Given the description of an element on the screen output the (x, y) to click on. 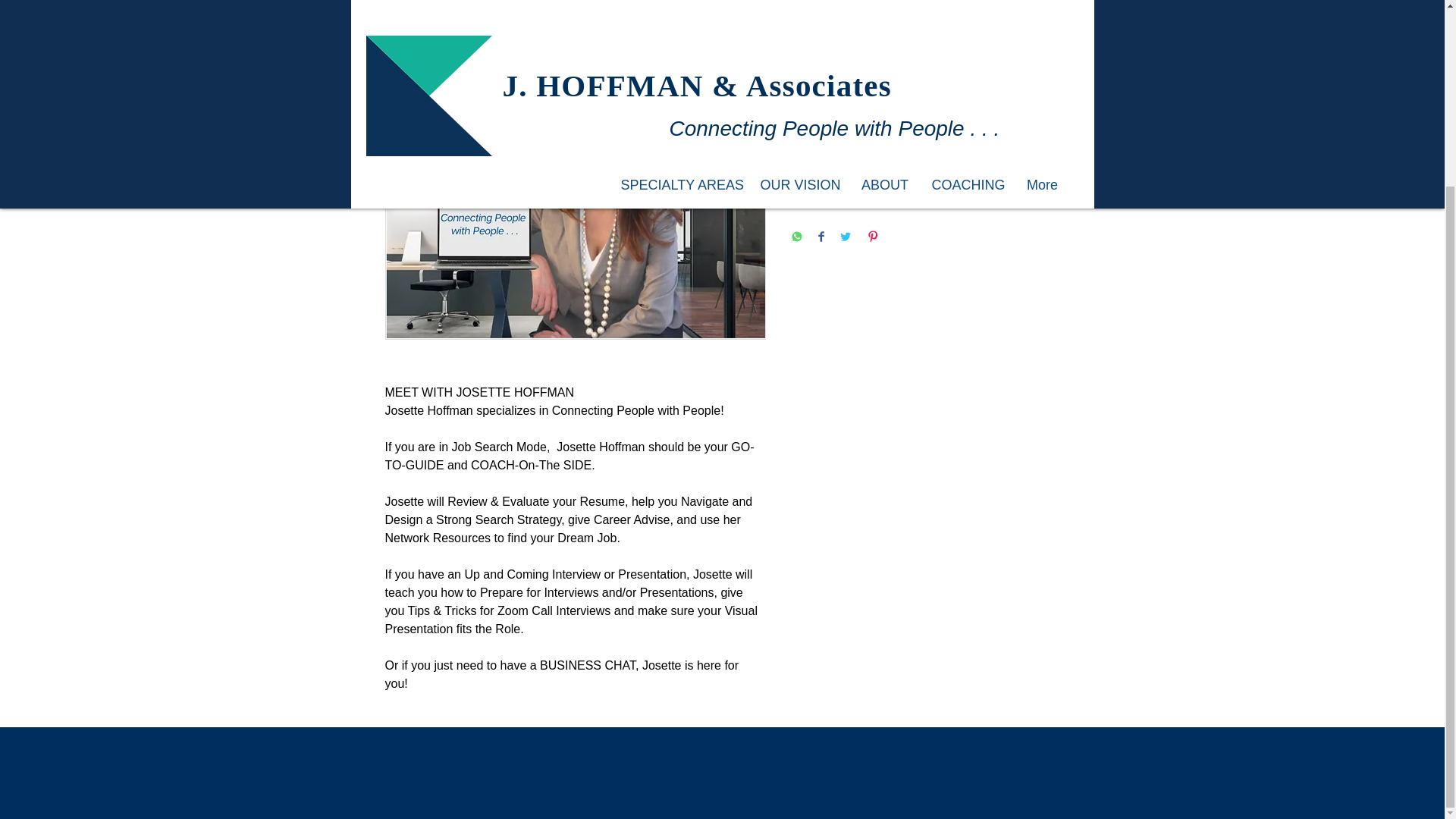
Home (401, 30)
ZOOM MEETING WITH JOSETTE HOFFMAN (553, 30)
Add to Cart (924, 170)
